Given the description of an element on the screen output the (x, y) to click on. 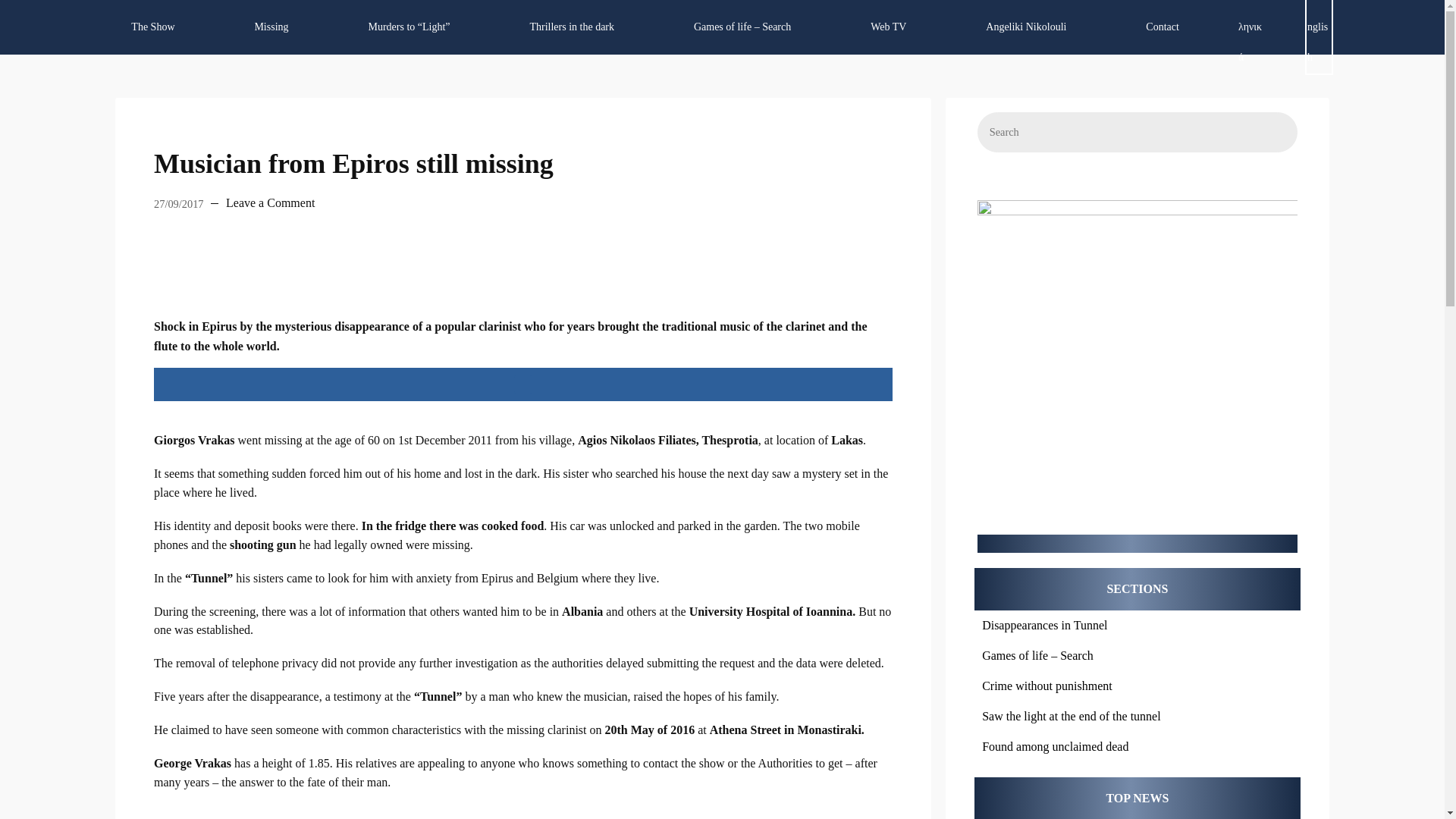
Missing (270, 27)
Angeliki Nikolouli (1026, 27)
The Show (152, 27)
Web TV (888, 27)
Thrillers in the dark (571, 27)
